Given the description of an element on the screen output the (x, y) to click on. 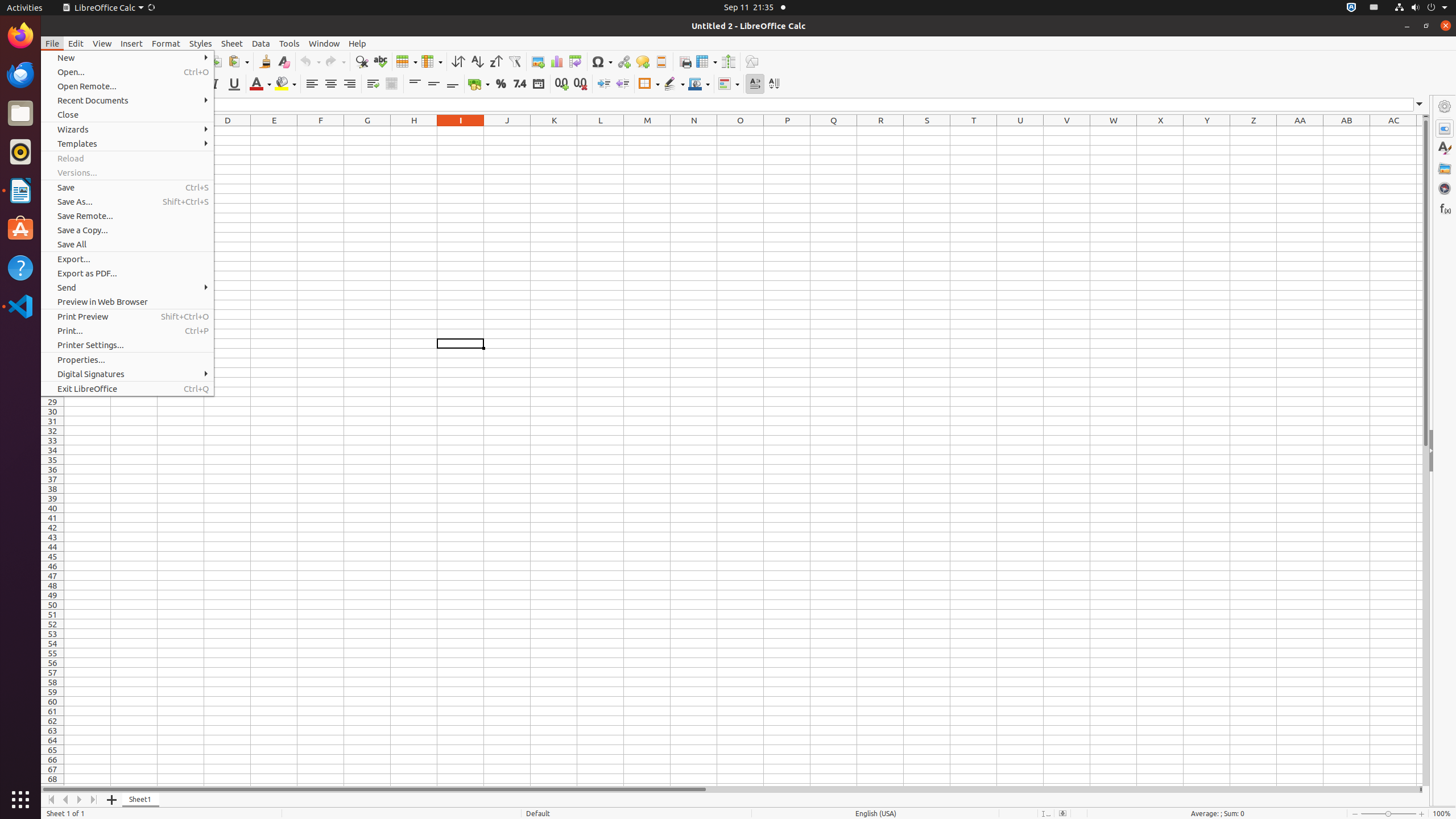
G1 Element type: table-cell (367, 130)
Preview in Web Browser Element type: menu-item (126, 301)
Text direction from top to bottom Element type: toggle-button (773, 83)
Window Element type: menu (324, 43)
